Given the description of an element on the screen output the (x, y) to click on. 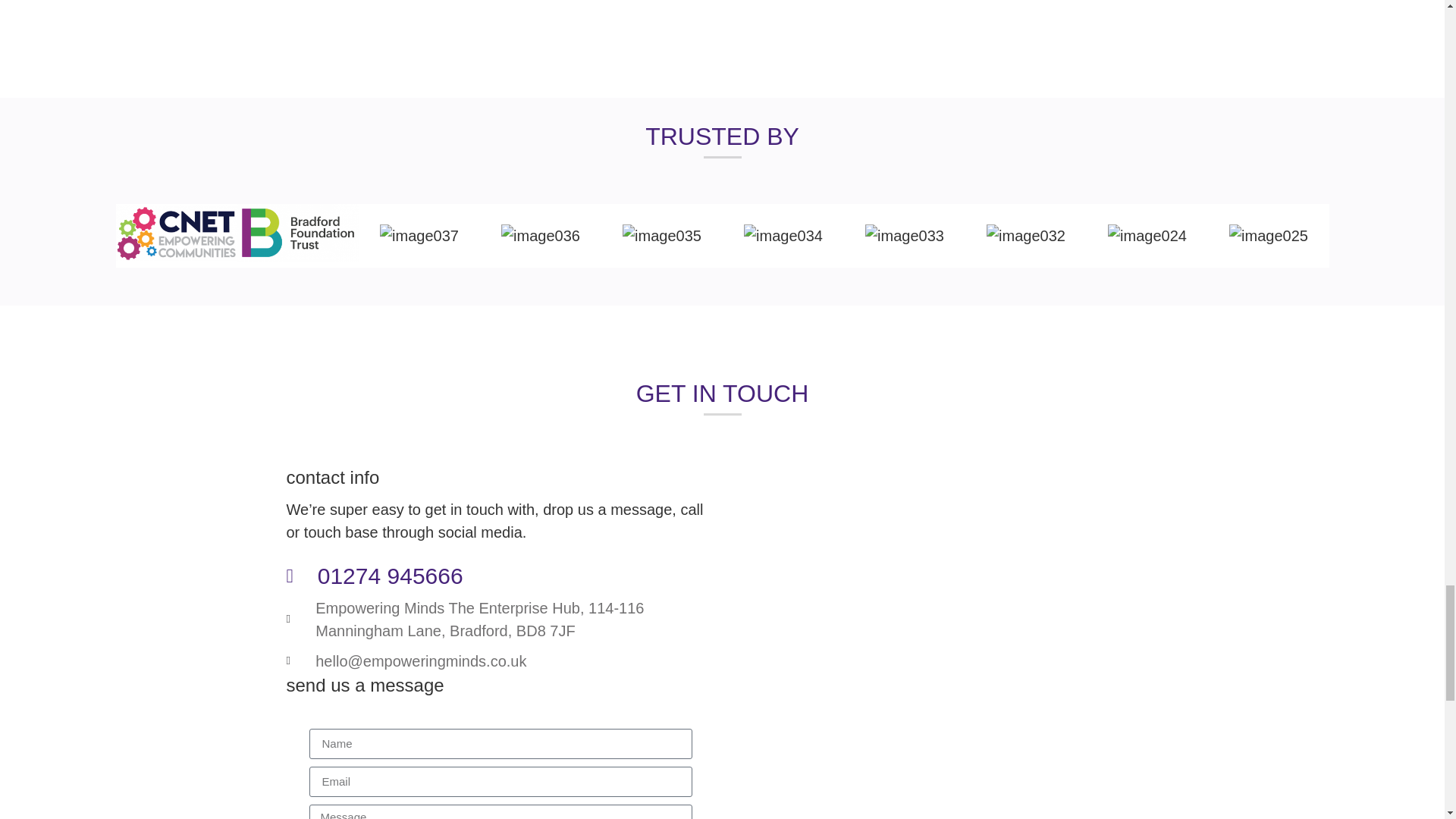
01274 945666 (500, 575)
